Given the description of an element on the screen output the (x, y) to click on. 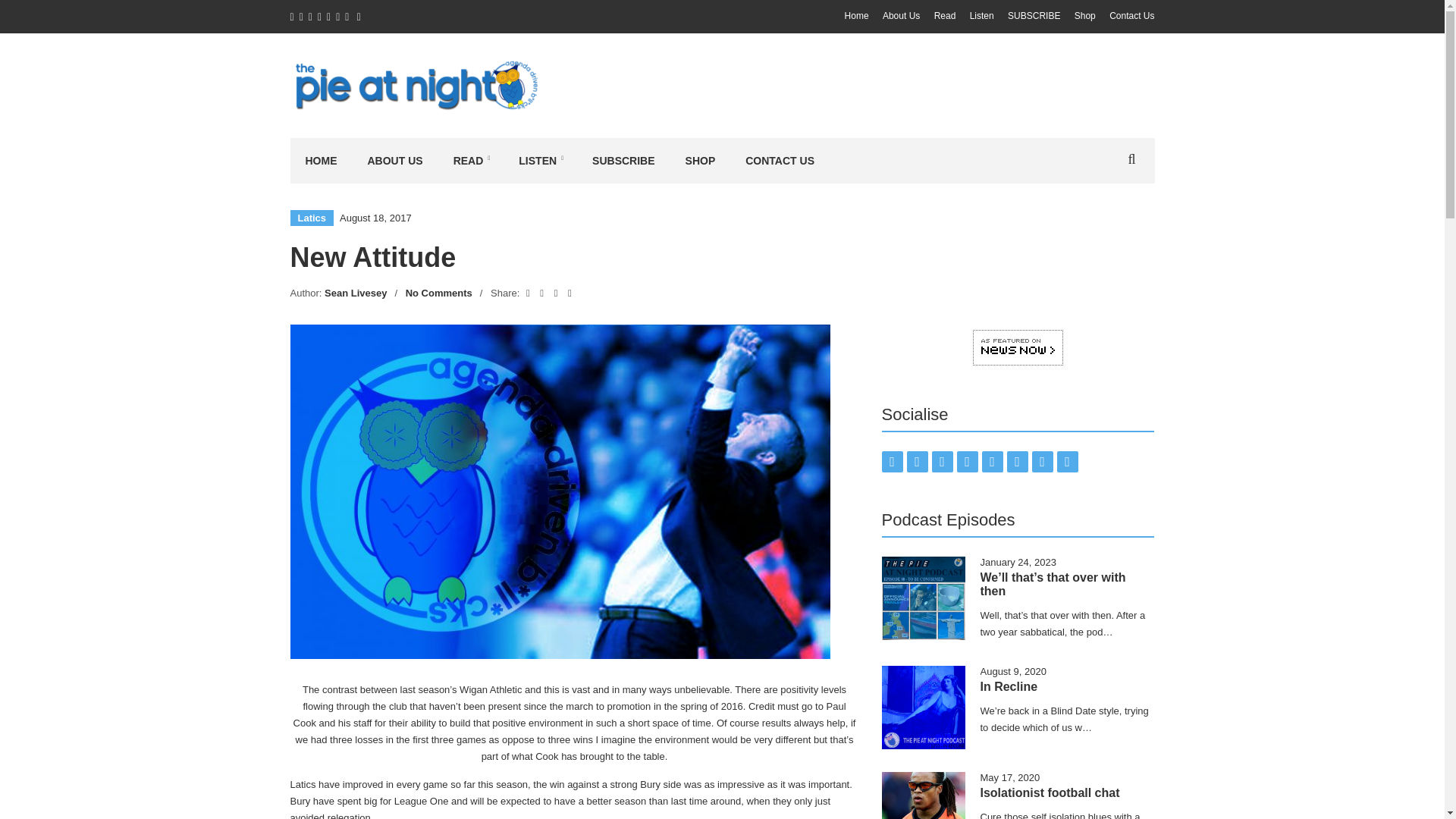
Posts by Sean Livesey (355, 292)
